Given the description of an element on the screen output the (x, y) to click on. 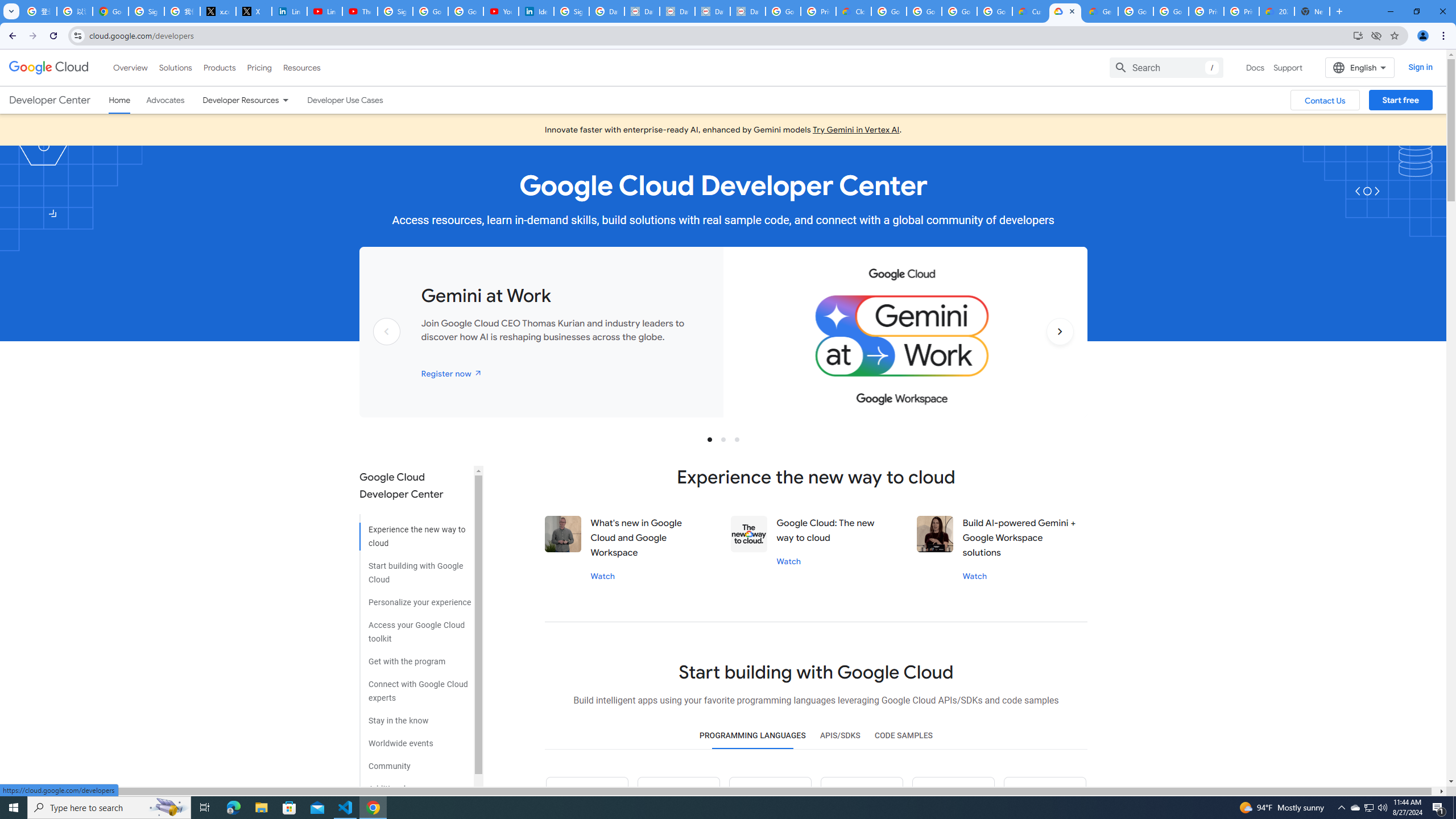
Connect with Google Cloud experts (415, 687)
Install Google Cloud (1358, 35)
Community (415, 762)
Support (1288, 67)
Developer Use Cases (344, 99)
Cloud Data Processing Addendum | Google Cloud (853, 11)
Google Cloud (48, 67)
Solutions (175, 67)
Sign in - Google Accounts (571, 11)
X (253, 11)
PROGRAMMING LANGUAGES (752, 735)
